Given the description of an element on the screen output the (x, y) to click on. 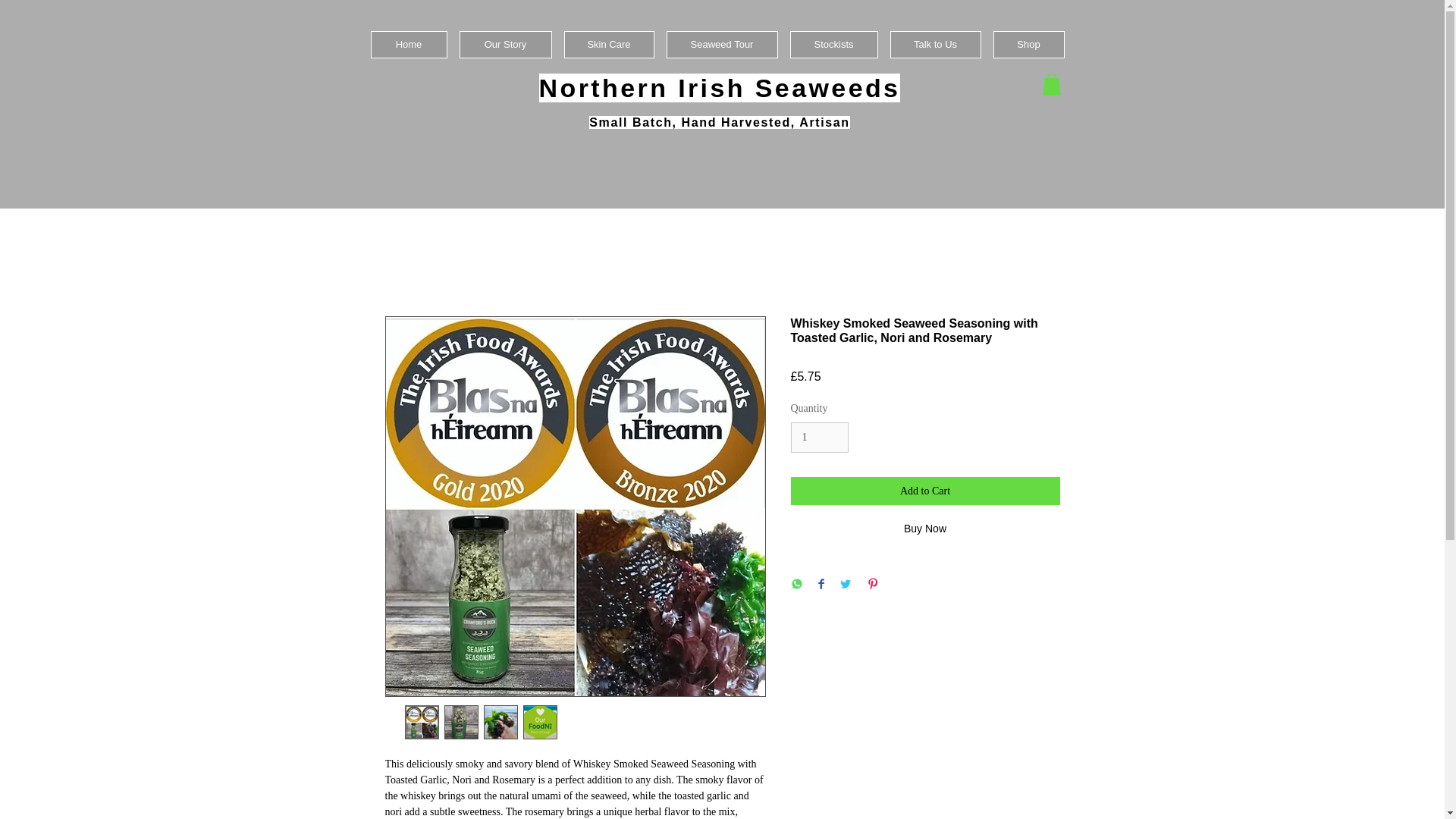
Home (407, 44)
1 (818, 437)
Buy Now (924, 529)
Seaweed Tour (721, 44)
Add to Cart (924, 490)
Skin Care (608, 44)
Stockists (833, 44)
Talk to Us (935, 44)
Shop (1028, 44)
